Given the description of an element on the screen output the (x, y) to click on. 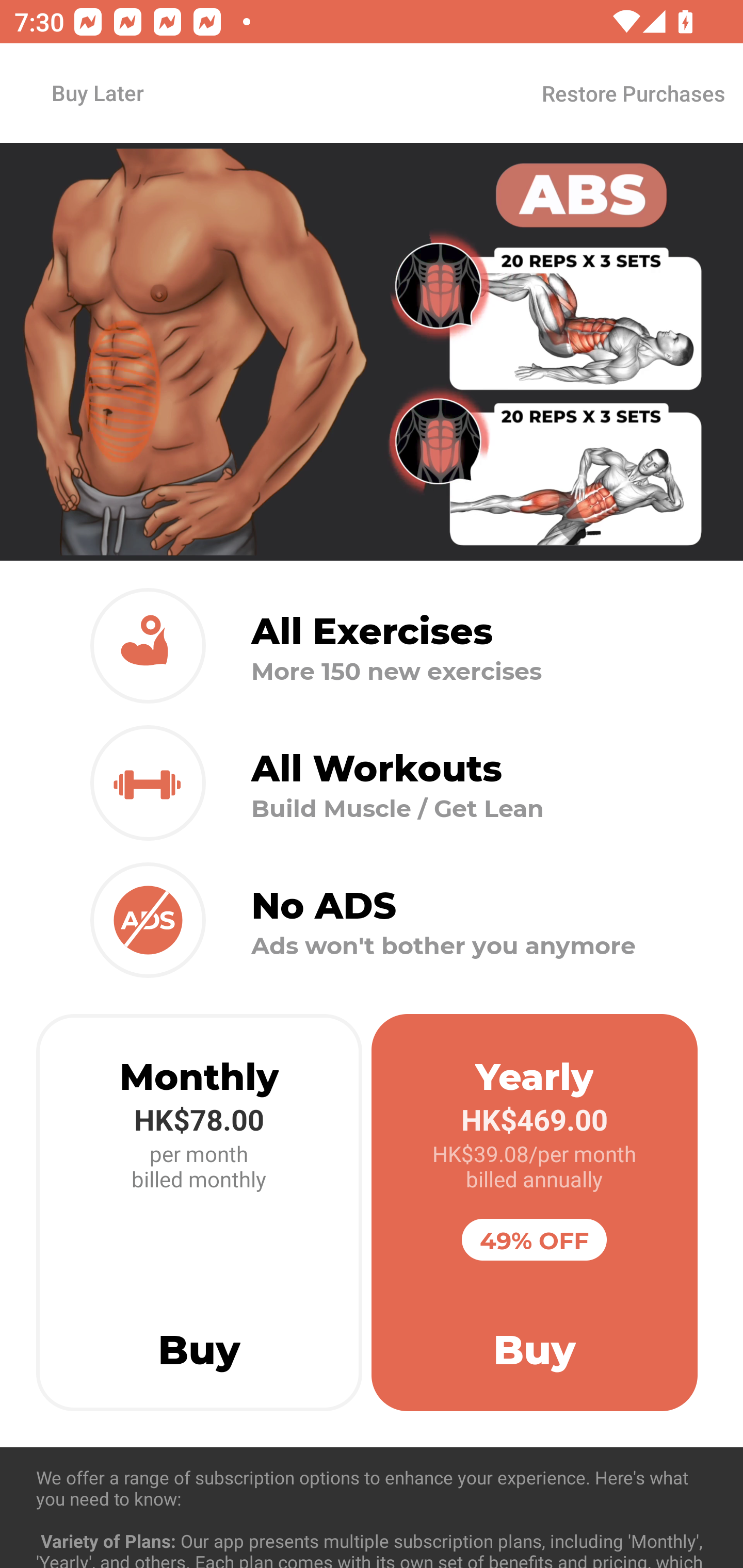
Restore Purchases (632, 92)
Buy Later (96, 92)
Monthly HK$78.00 per month
billed monthly Buy (199, 1212)
